Given the description of an element on the screen output the (x, y) to click on. 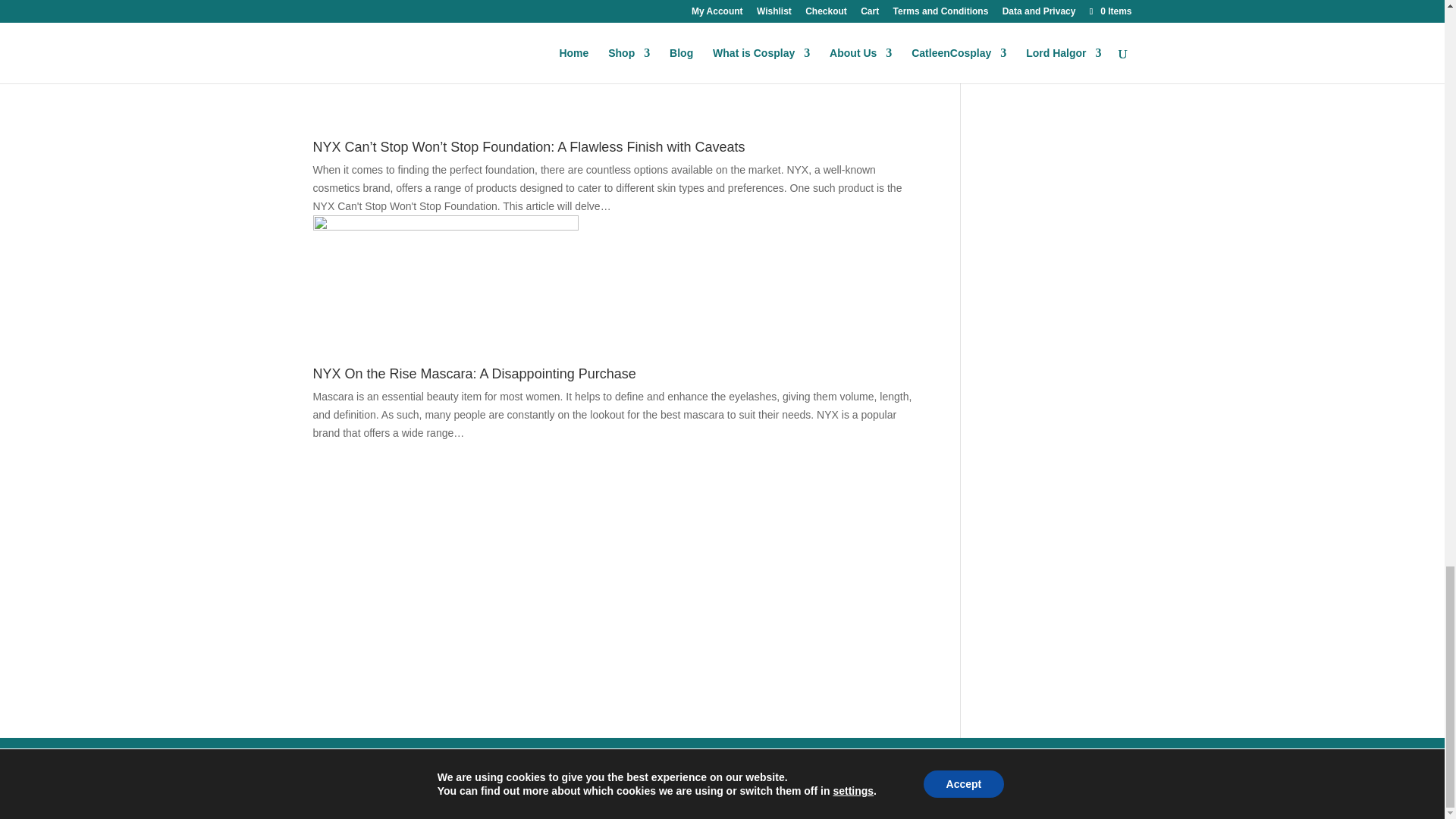
NYX On the Rise Mascara: A Disappointing Purchase (473, 373)
Advertisement (489, 475)
Advertisement (614, 580)
NYX On the Rise Mascara: A Disappointing Purchase (445, 357)
